Given the description of an element on the screen output the (x, y) to click on. 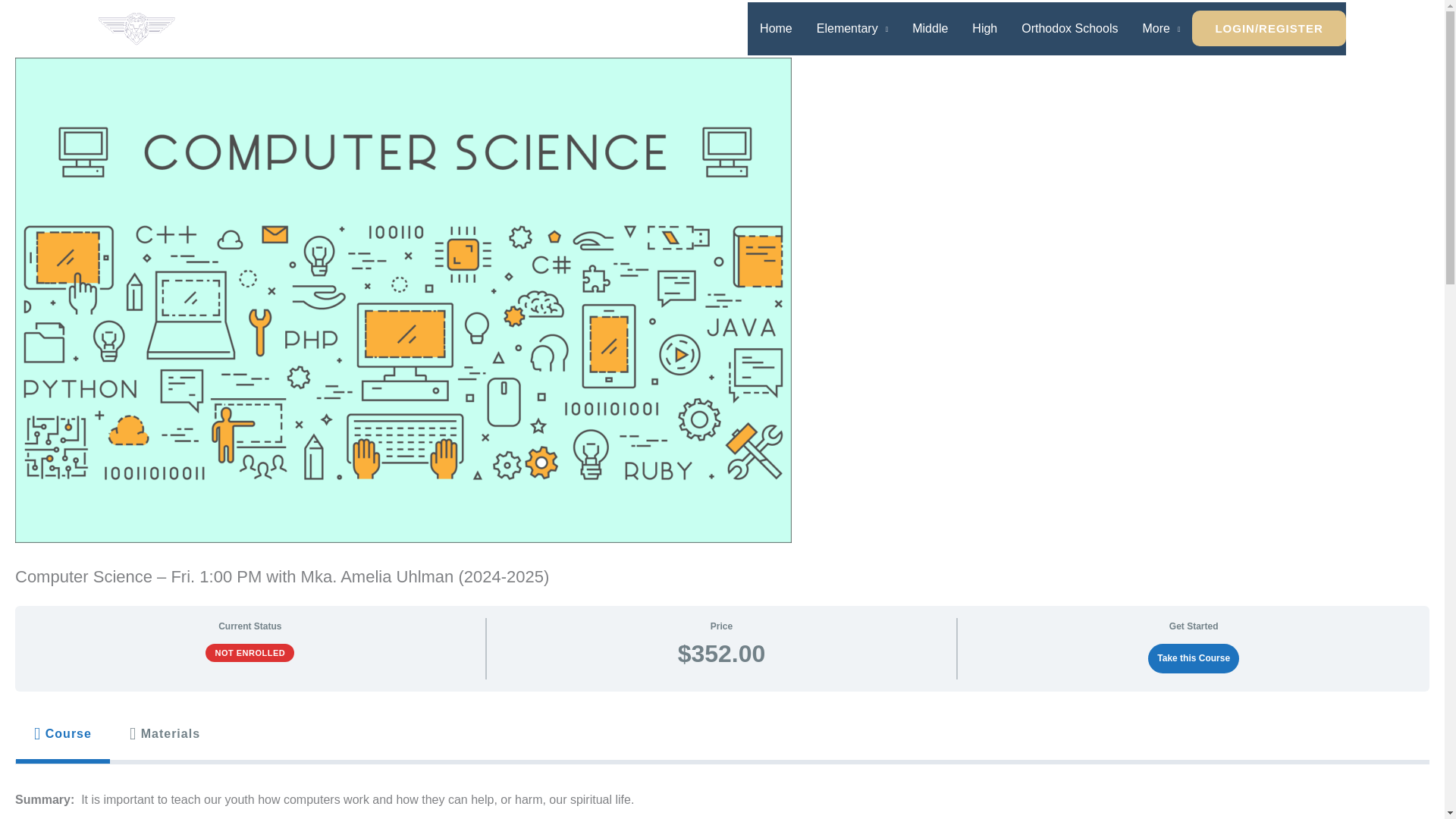
St. Athanasius Academy (319, 27)
Elementary (852, 28)
More (1160, 28)
Middle (929, 28)
Home (776, 28)
High (984, 28)
Orthodox Schools (1069, 28)
